Given the description of an element on the screen output the (x, y) to click on. 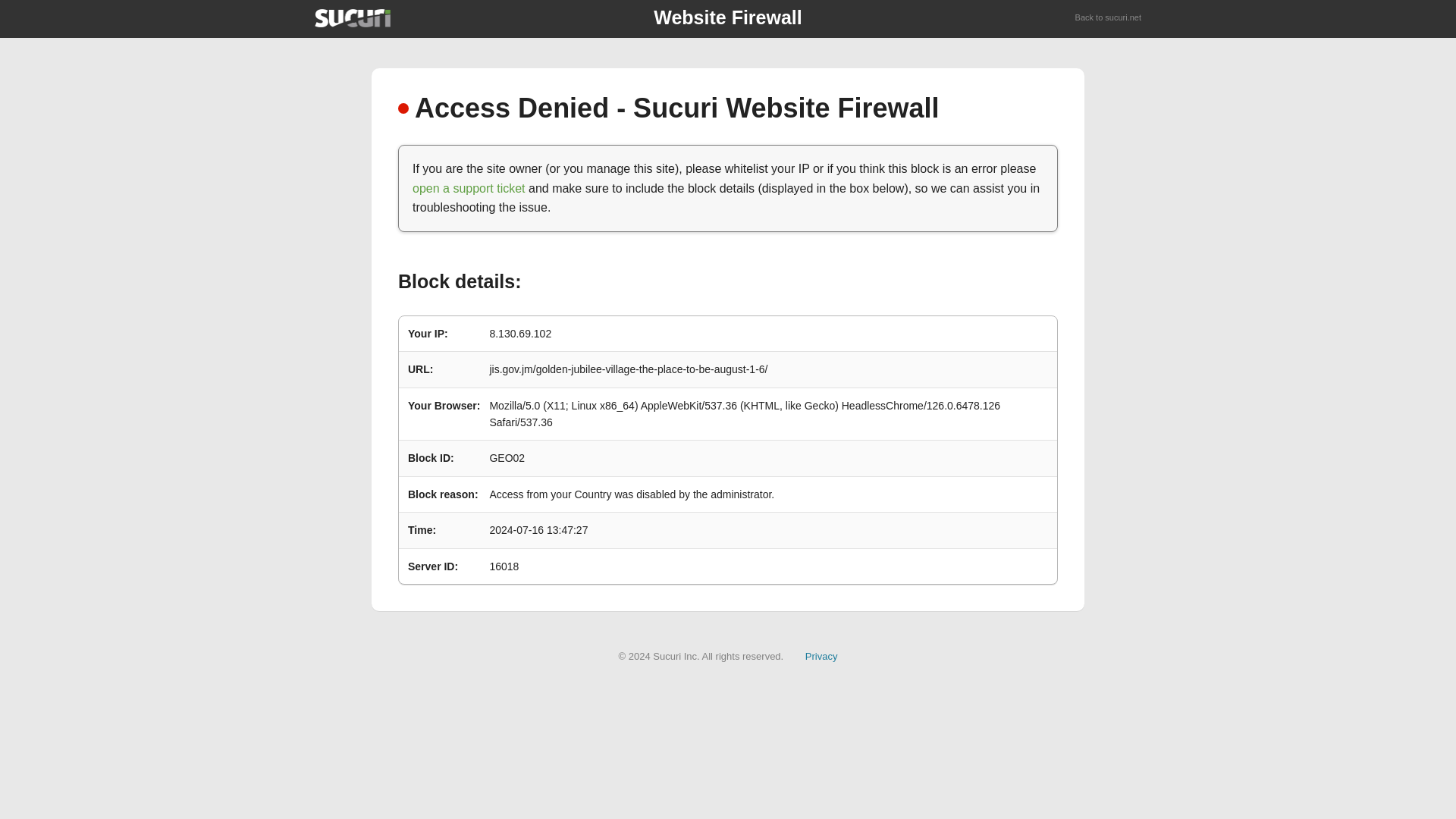
open a support ticket (468, 187)
Back to sucuri.net (1108, 18)
Privacy (821, 655)
